Given the description of an element on the screen output the (x, y) to click on. 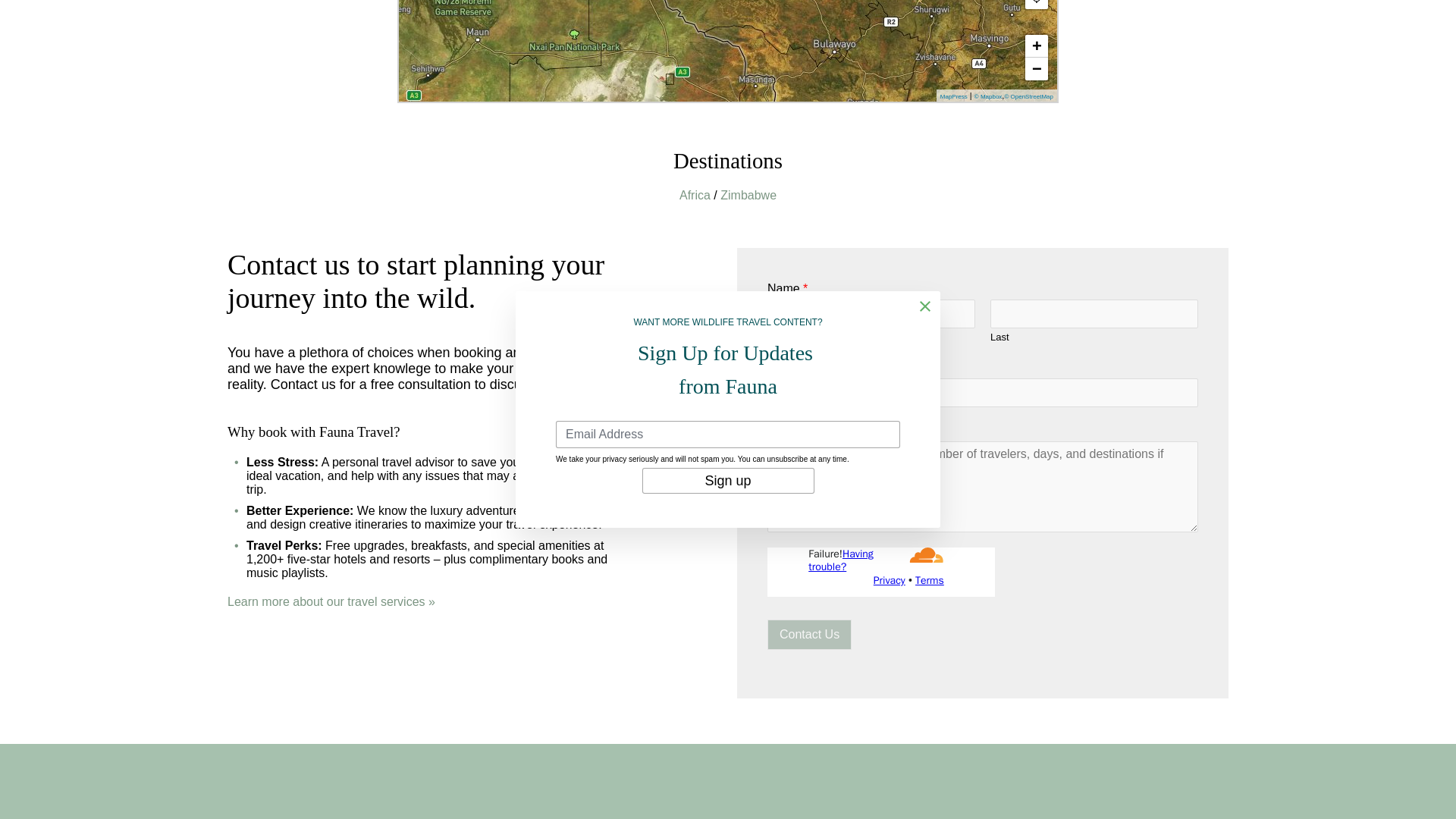
wpforms-submit (809, 634)
